Given the description of an element on the screen output the (x, y) to click on. 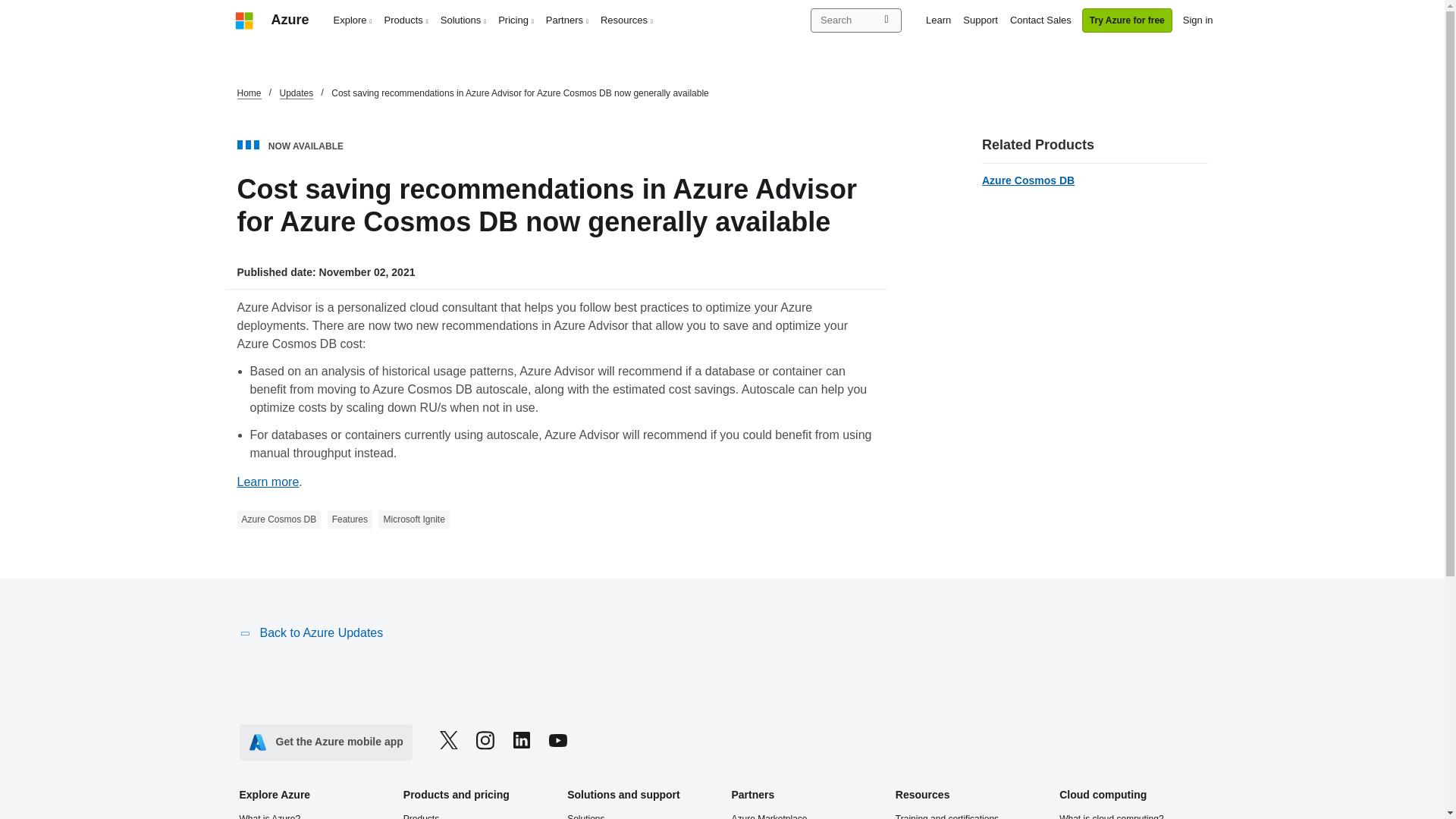
Explore (352, 20)
Products (405, 20)
Skip to main content (7, 7)
Azure (289, 19)
